Given the description of an element on the screen output the (x, y) to click on. 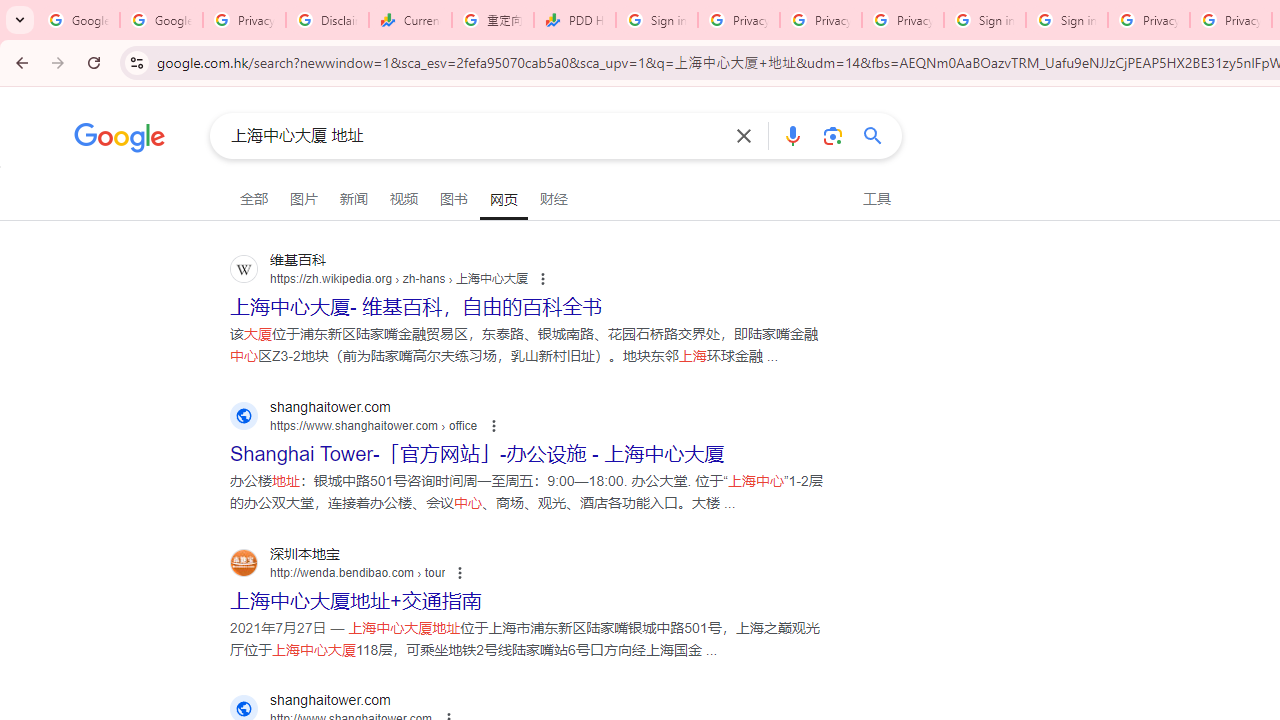
Google (120, 139)
Google Workspace Admin Community (78, 20)
Sign in - Google Accounts (1067, 20)
